Given the description of an element on the screen output the (x, y) to click on. 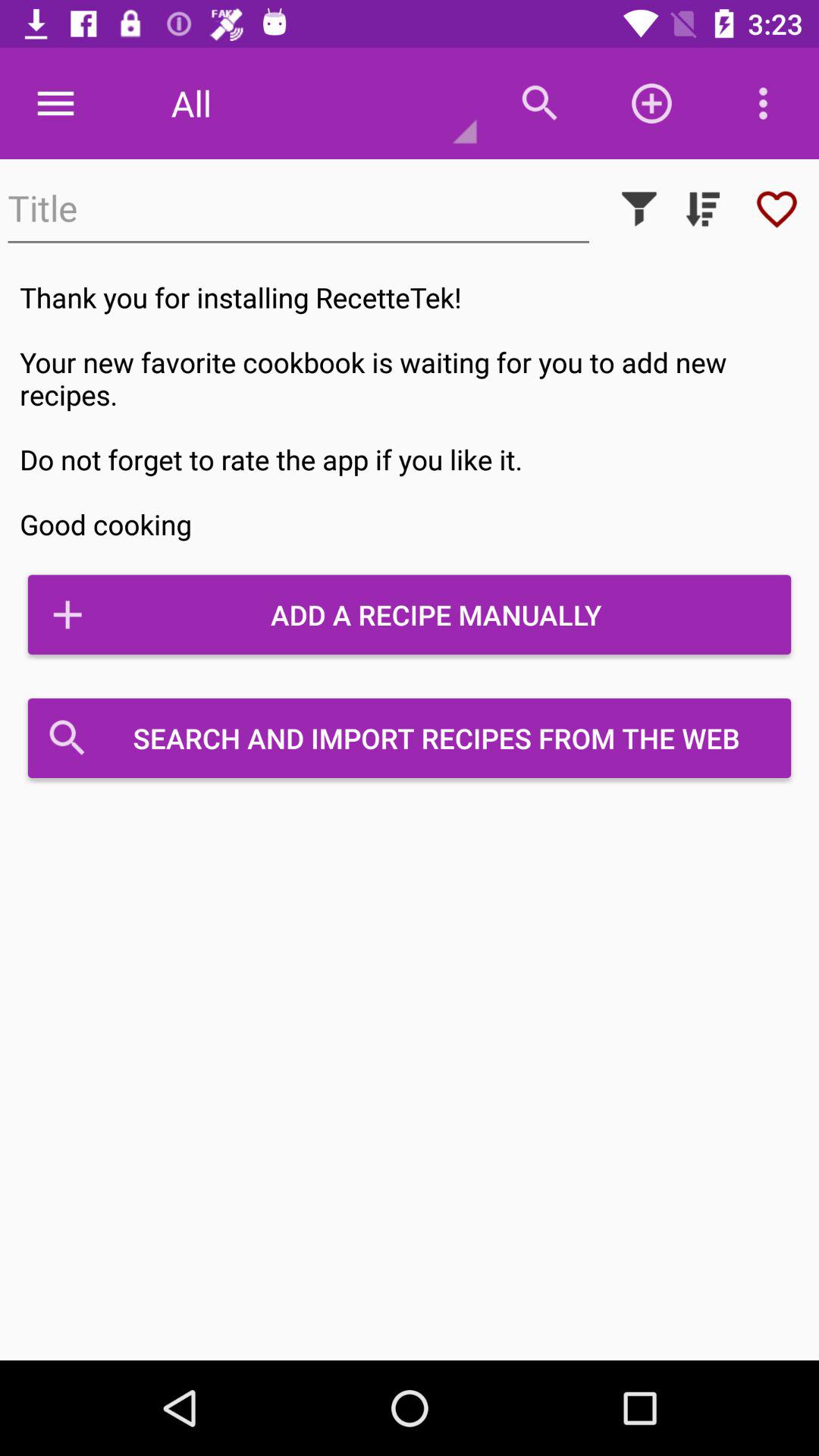
jump until the search and import icon (409, 737)
